Given the description of an element on the screen output the (x, y) to click on. 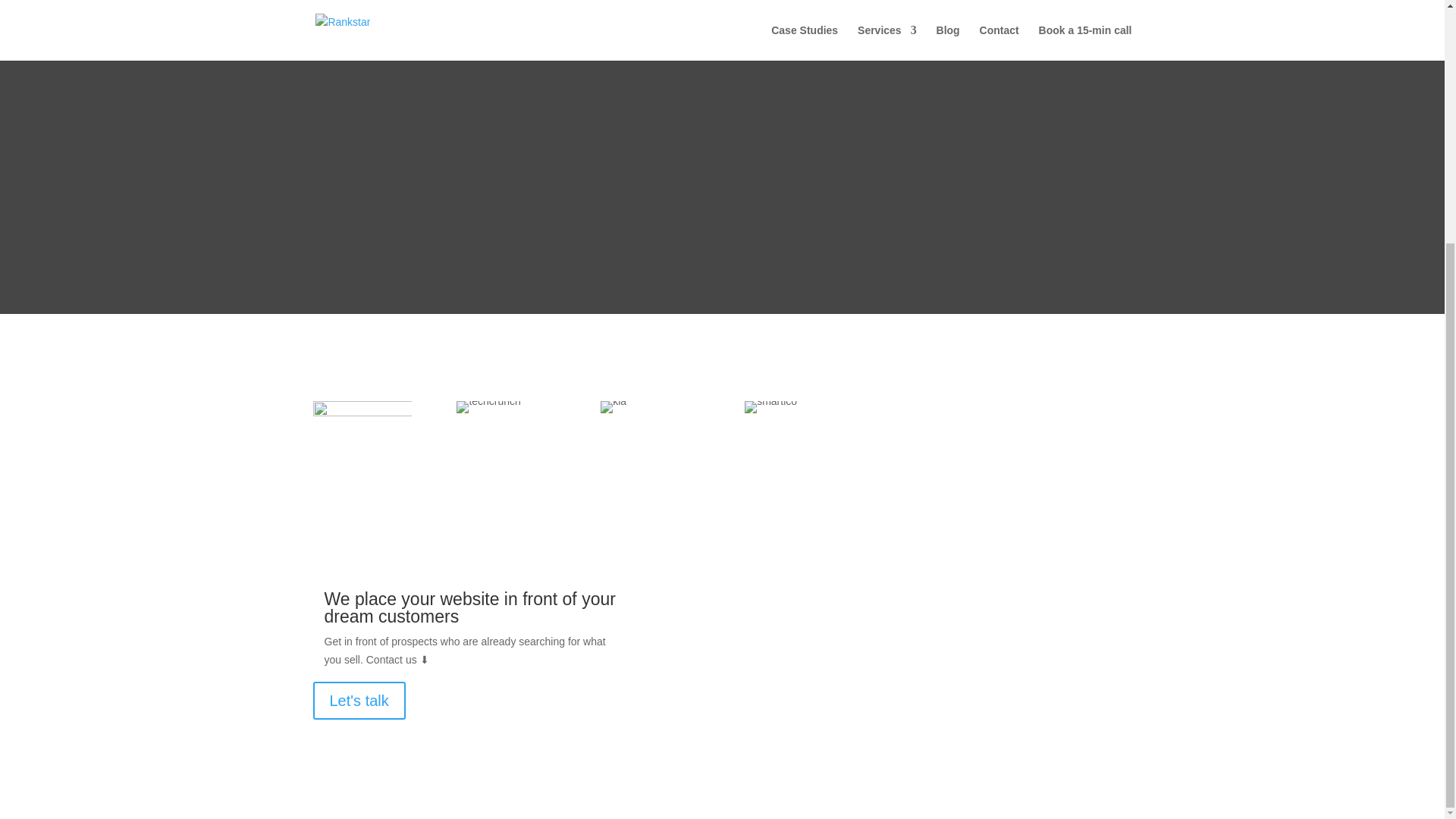
Let's talk (358, 700)
techcrunch (488, 407)
kia-01 (612, 407)
